Given the description of an element on the screen output the (x, y) to click on. 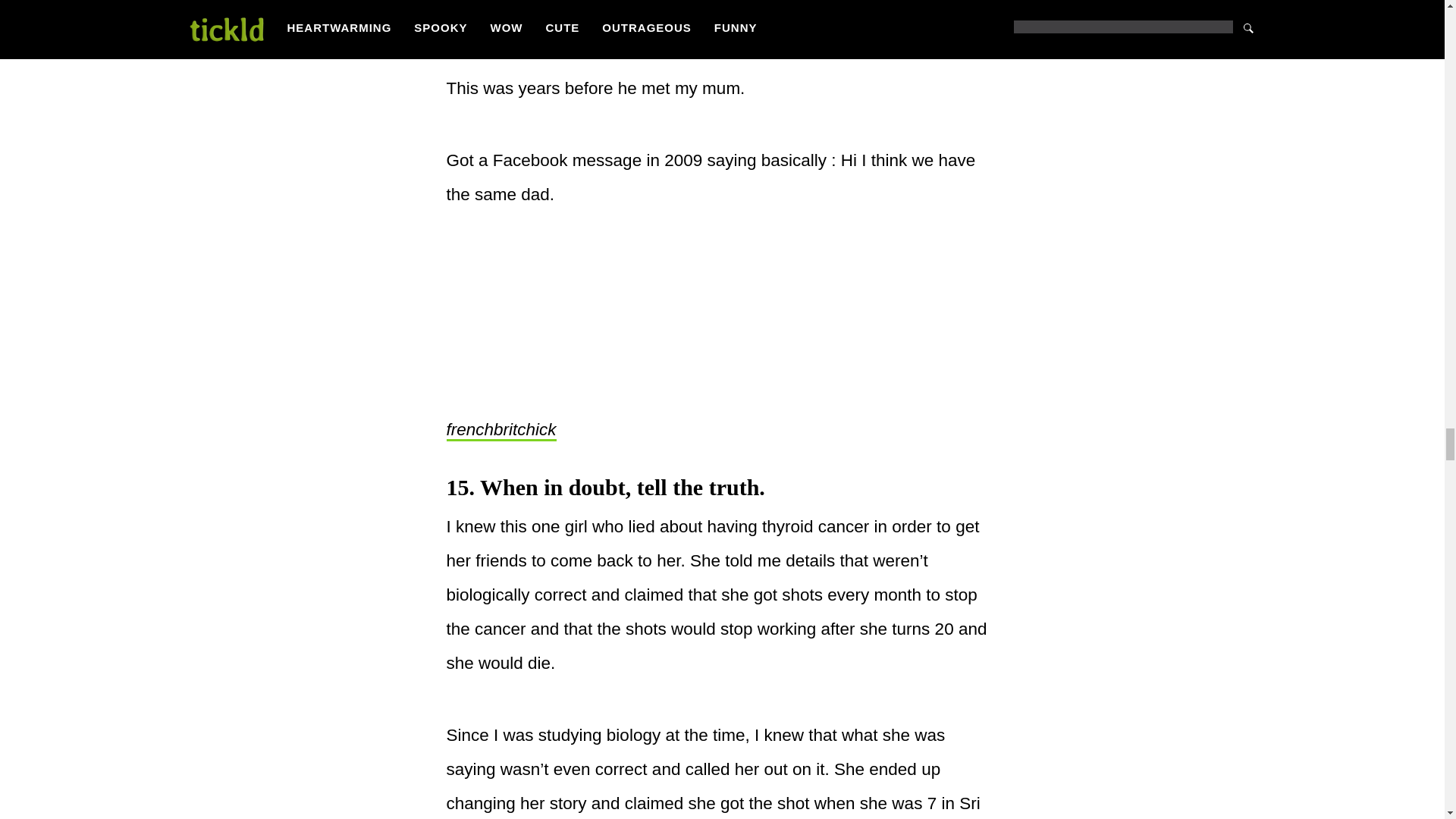
frenchbritchick (500, 430)
